Given the description of an element on the screen output the (x, y) to click on. 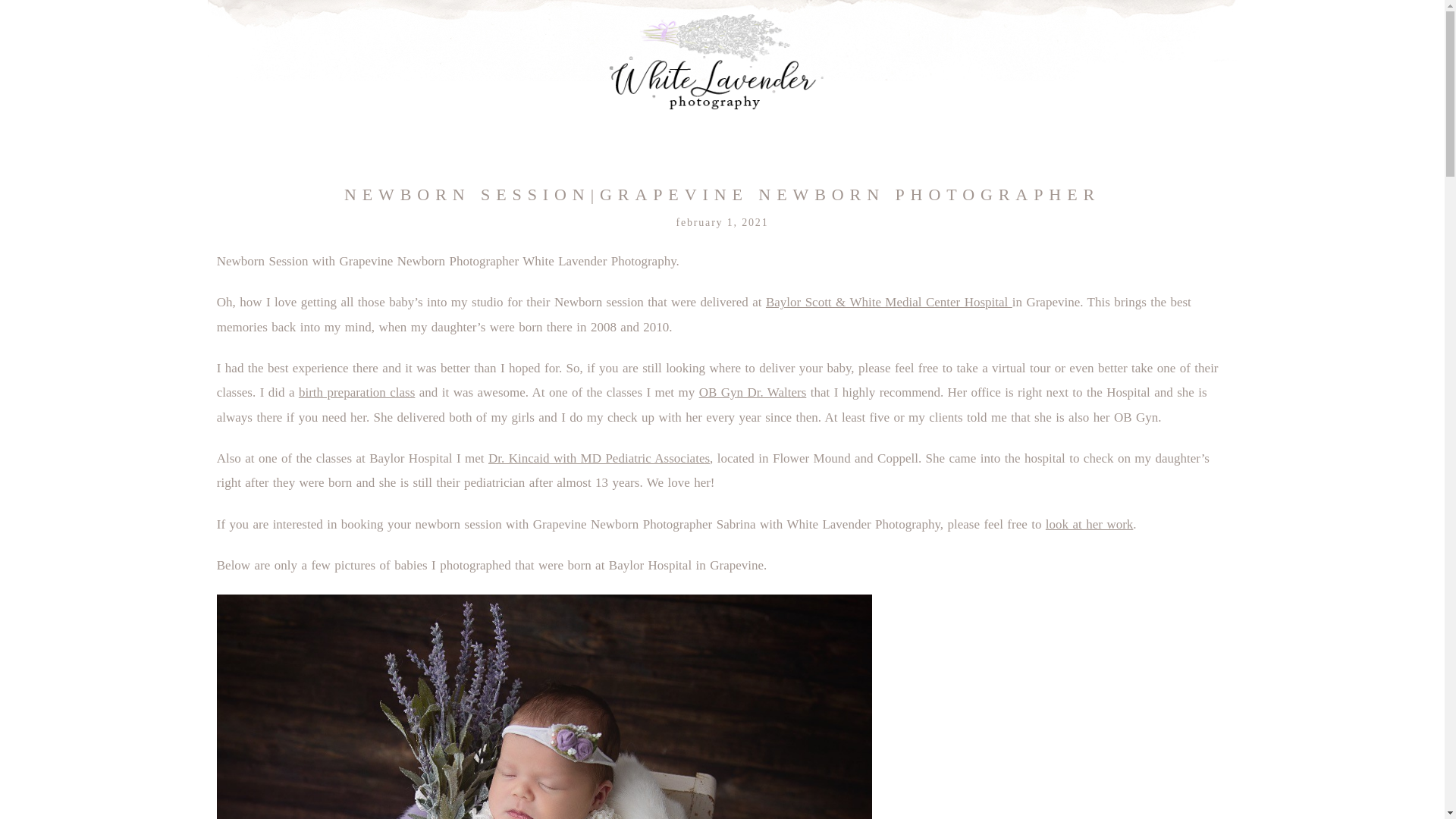
OB Gyn Dr. Walters (752, 391)
birth preparation class (356, 391)
Dr. Kincaid with MD Pediatric Associates (598, 458)
look at her work (1088, 523)
